Given the description of an element on the screen output the (x, y) to click on. 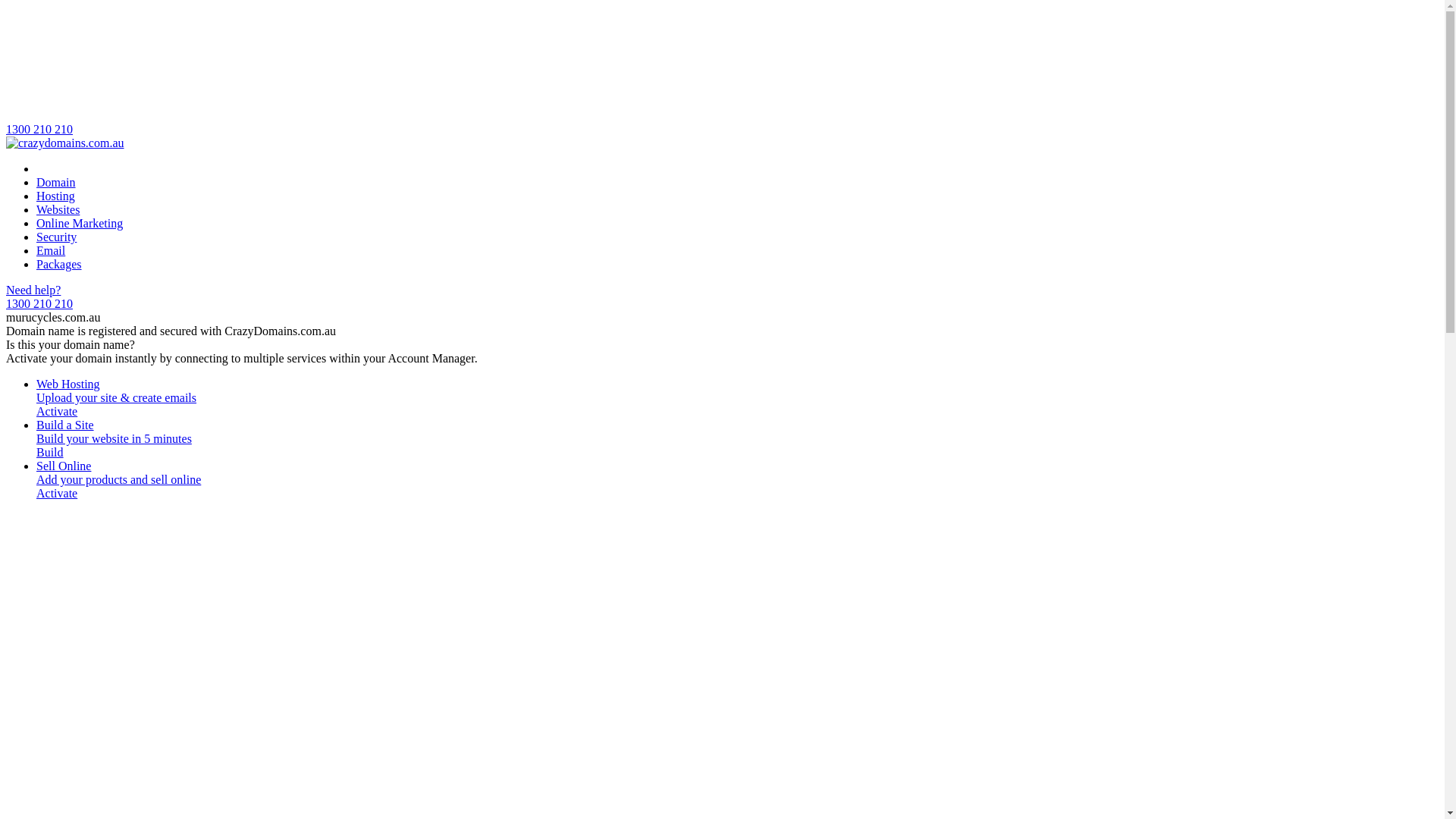
Online Marketing Element type: text (79, 222)
Email Element type: text (50, 250)
Hosting Element type: text (55, 195)
Domain Element type: text (55, 181)
Build a Site
Build your website in 5 minutes
Build Element type: text (737, 438)
1300 210 210 Element type: text (722, 70)
Need help?
1300 210 210 Element type: text (722, 296)
Web Hosting
Upload your site & create emails
Activate Element type: text (737, 397)
Packages Element type: text (58, 263)
Sell Online
Add your products and sell online
Activate Element type: text (737, 479)
Websites Element type: text (57, 209)
Security Element type: text (56, 236)
